Given the description of an element on the screen output the (x, y) to click on. 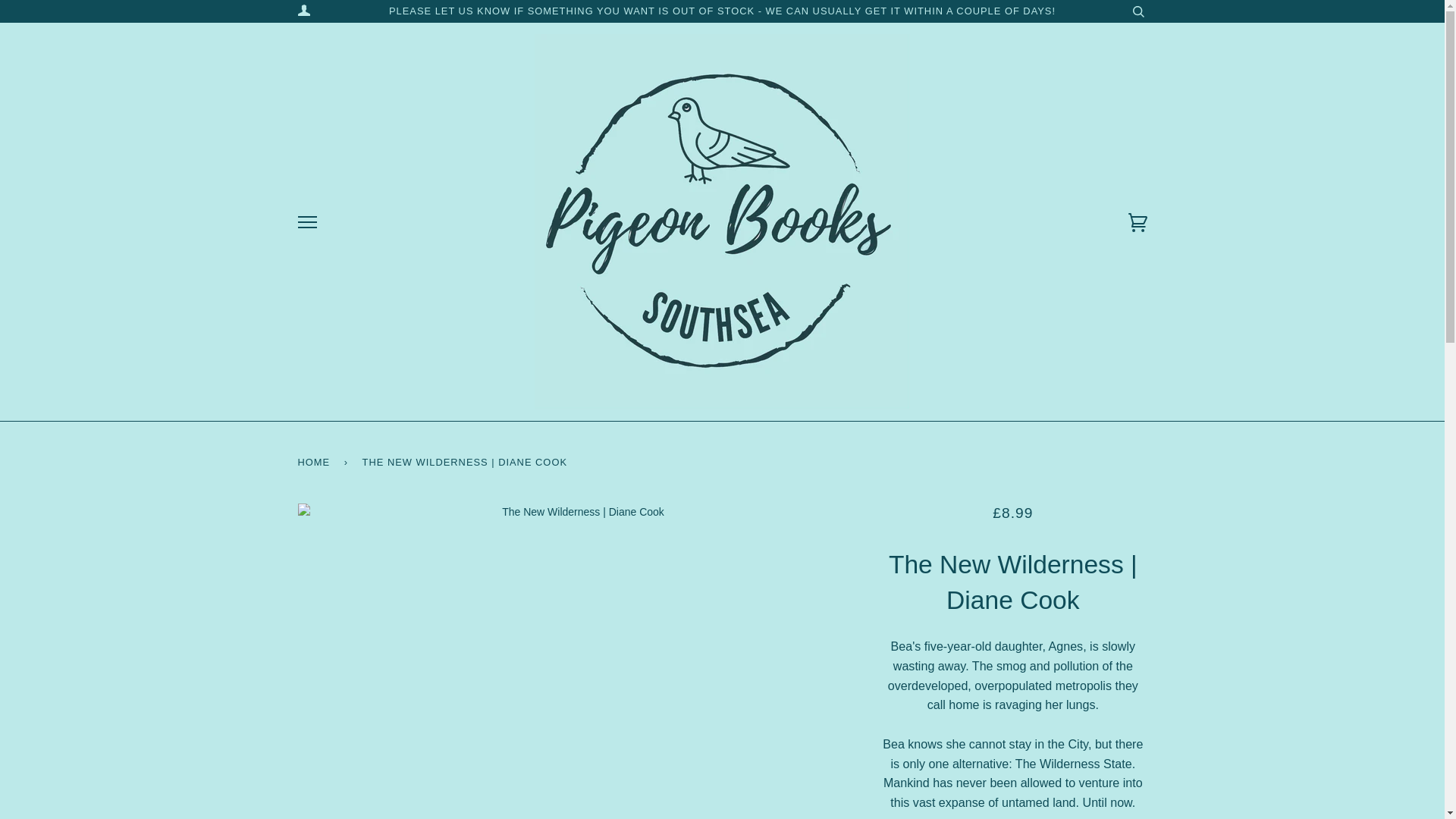
Back to the frontpage (315, 462)
